Given the description of an element on the screen output the (x, y) to click on. 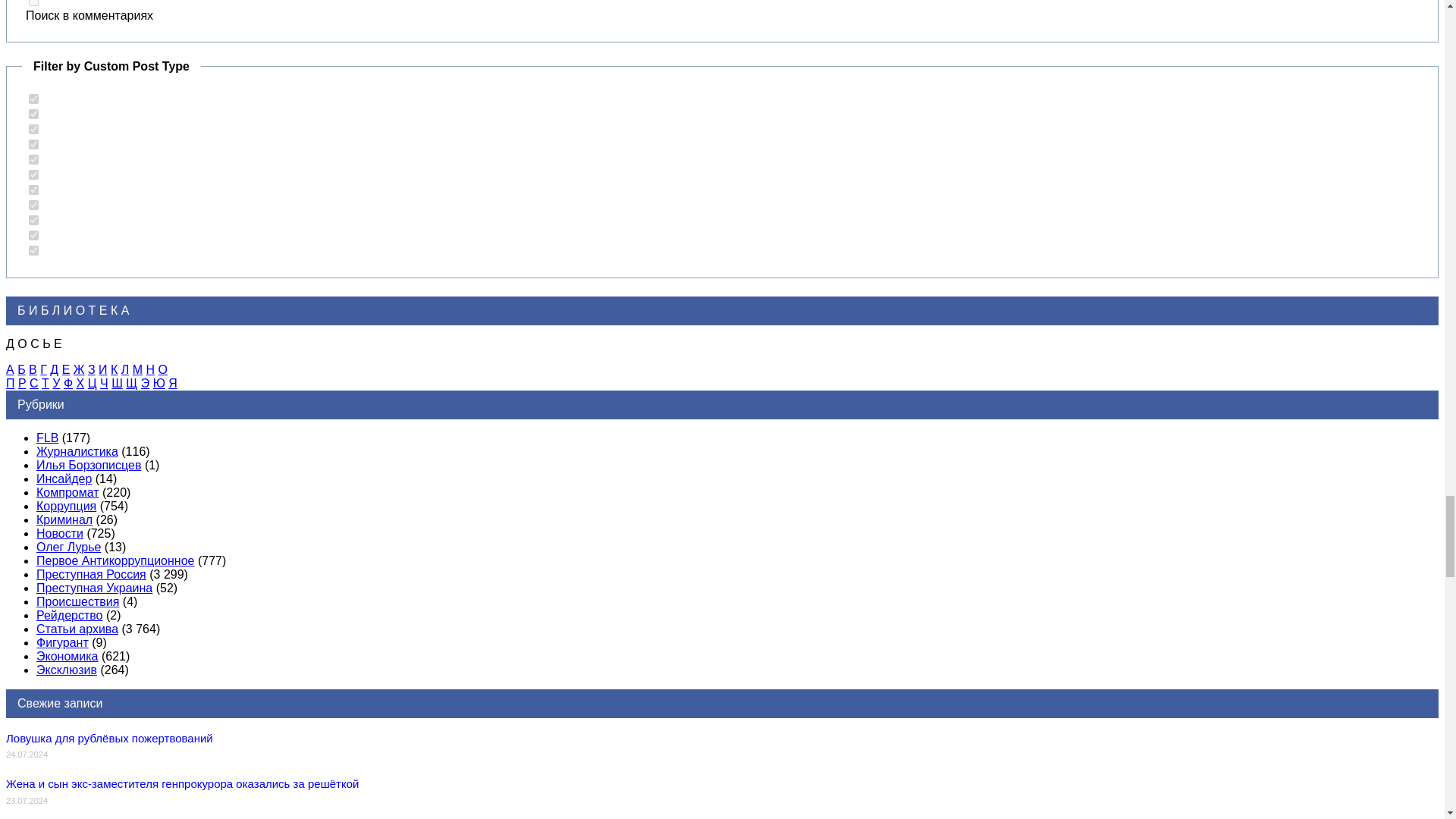
opinions (34, 129)
page (34, 113)
post (34, 99)
investigations (34, 204)
persons (34, 159)
politics (34, 144)
comments (34, 2)
reports (34, 220)
society (34, 174)
dossier (34, 189)
